Given the description of an element on the screen output the (x, y) to click on. 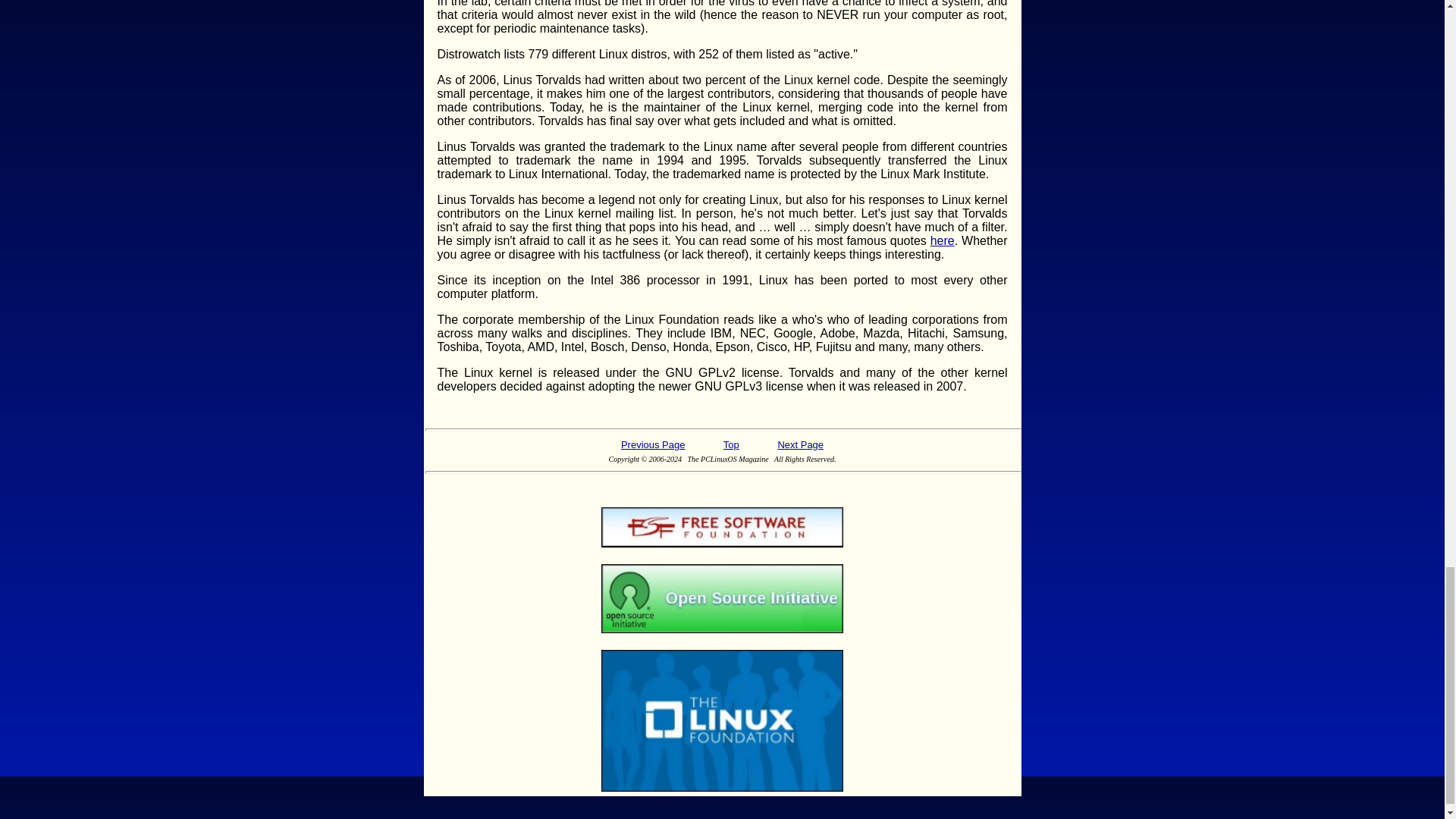
corporate membership (524, 318)
